Given the description of an element on the screen output the (x, y) to click on. 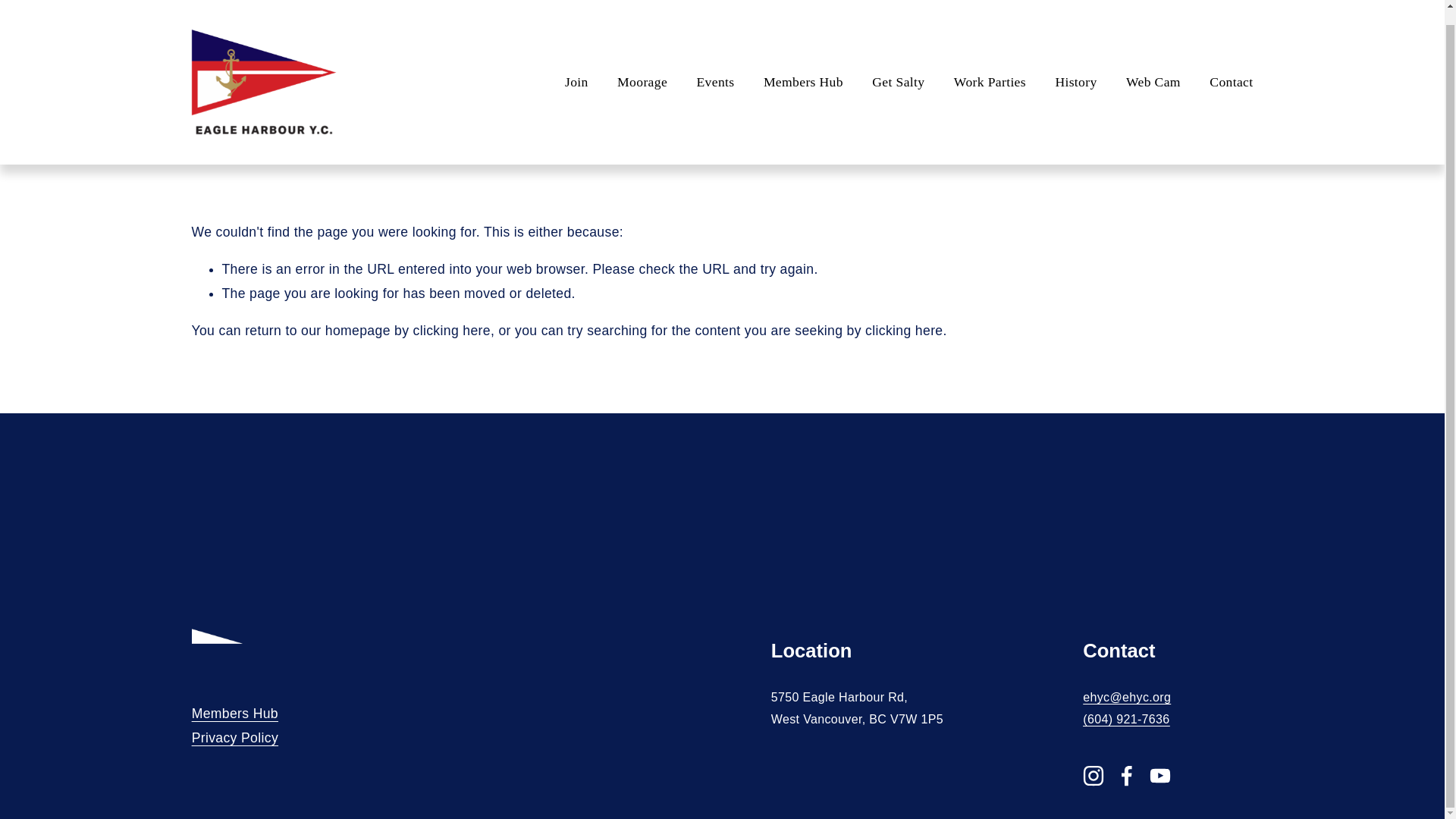
clicking here (903, 330)
Events (714, 67)
Members Hub (802, 67)
Get Salty (898, 67)
Work Parties (989, 67)
History (1075, 67)
Contact (1230, 67)
Join (576, 67)
Members Hub (235, 713)
Web Cam (1152, 67)
